Given the description of an element on the screen output the (x, y) to click on. 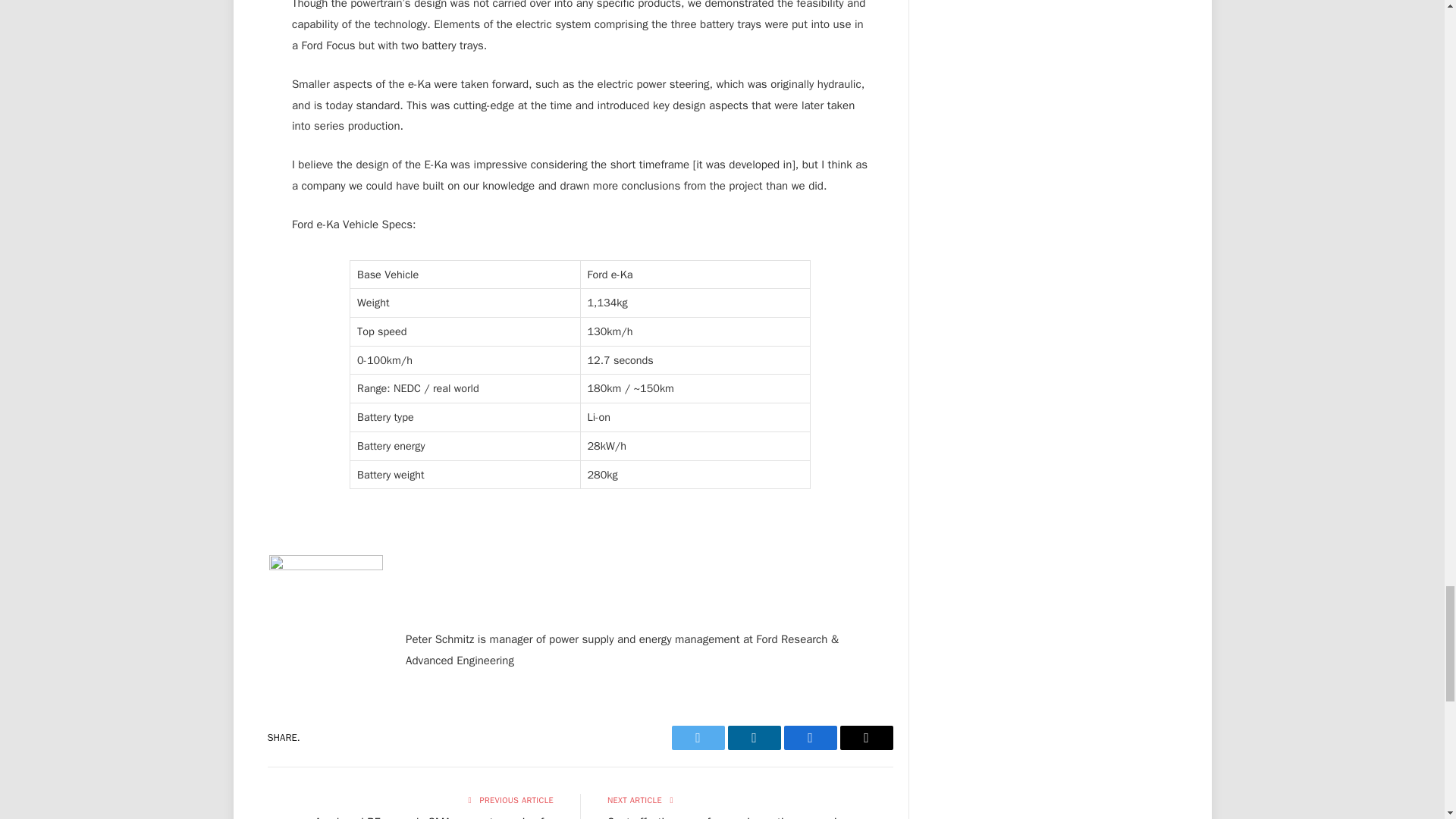
Share on LinkedIn (754, 737)
